Given the description of an element on the screen output the (x, y) to click on. 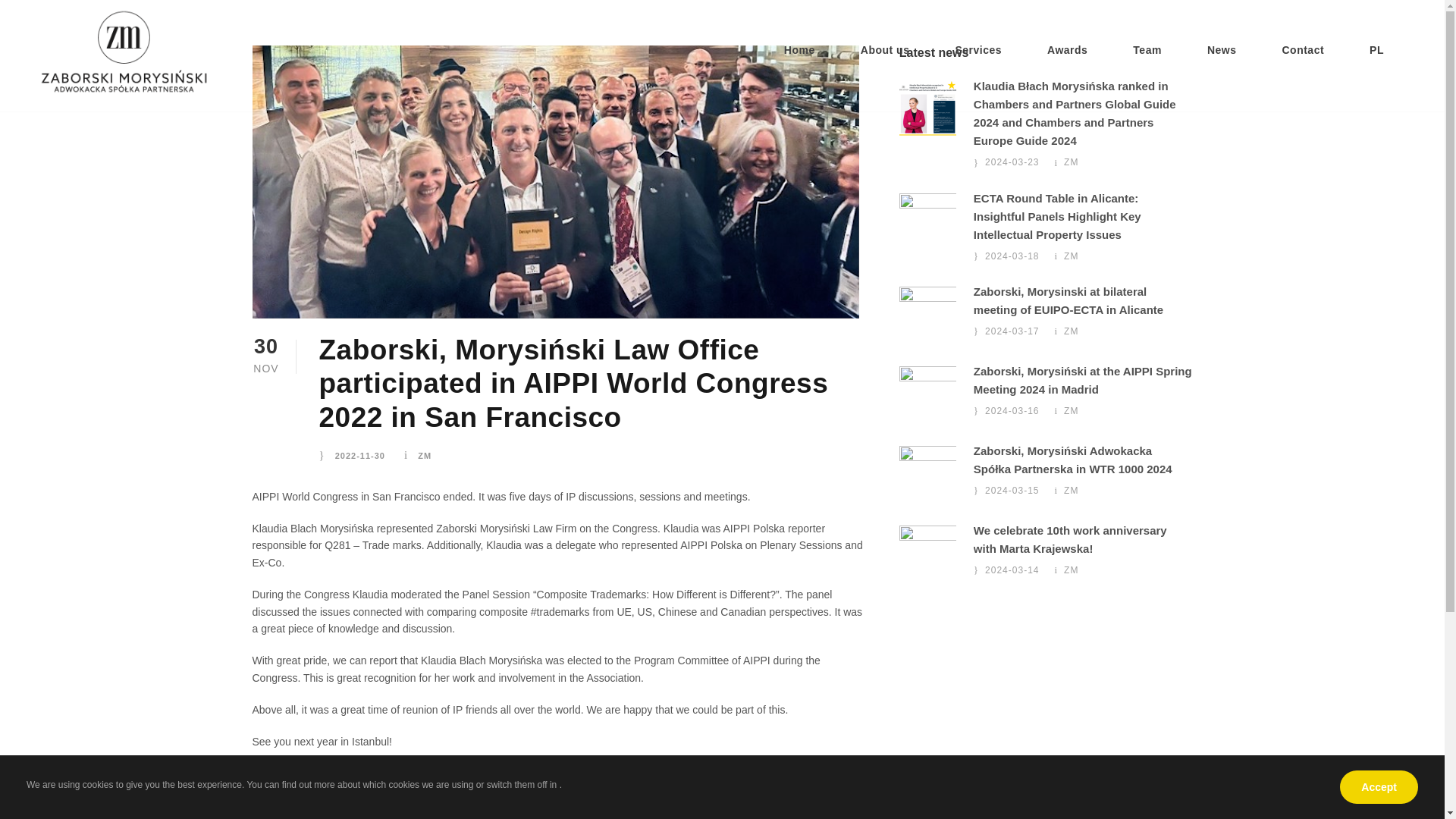
Posts by ZM (1071, 162)
ZM (1071, 255)
Posts by ZM (1071, 255)
2024-03-18 (1012, 255)
Services (978, 66)
ZM (423, 455)
About us (885, 66)
2022-11-30 (359, 455)
Posts by ZM (423, 455)
